Given the description of an element on the screen output the (x, y) to click on. 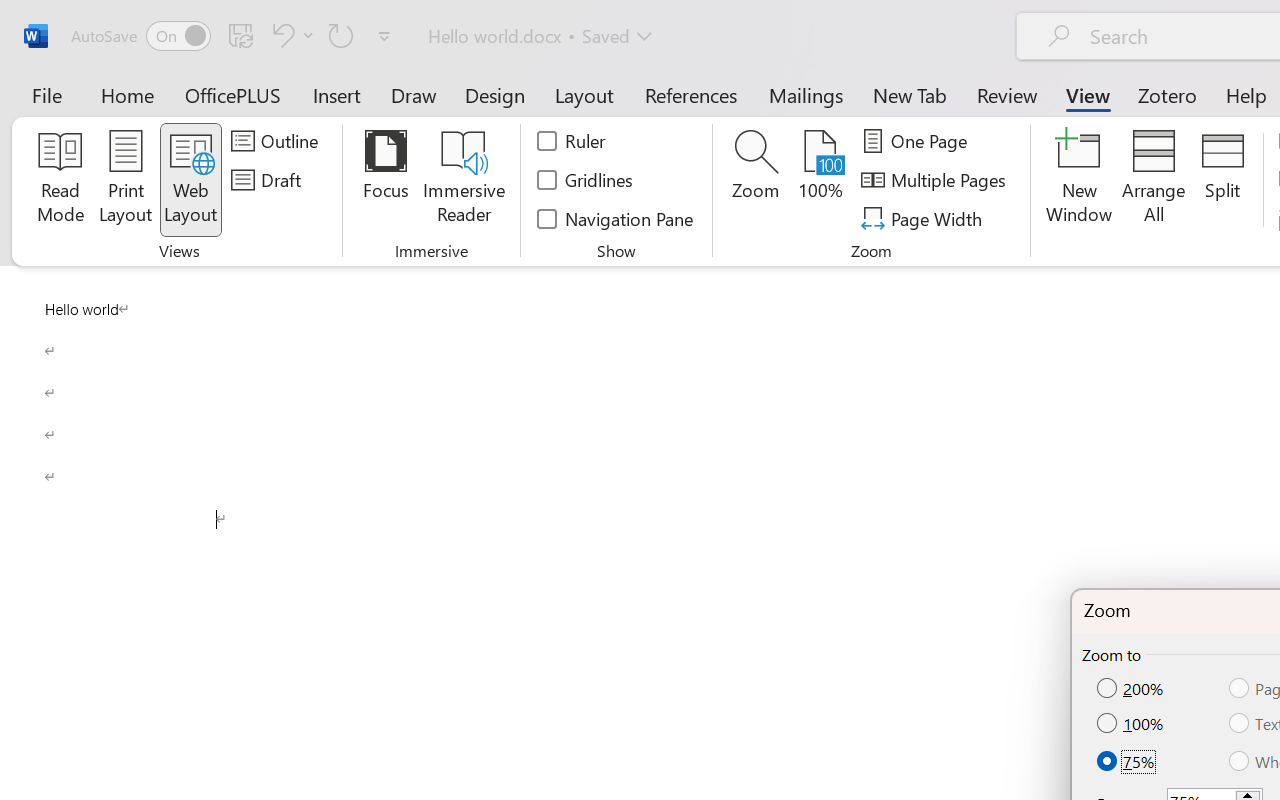
200% (1131, 689)
Mailings (806, 94)
Ruler (572, 141)
Arrange All (1153, 179)
Immersive Reader (464, 179)
Undo Paragraph Formatting (280, 35)
Navigation Pane (616, 218)
Customize Quick Access Toolbar (384, 35)
View (1087, 94)
New Tab (909, 94)
Outline (278, 141)
Split (1222, 179)
Save (241, 35)
AutoSave (140, 35)
